Given the description of an element on the screen output the (x, y) to click on. 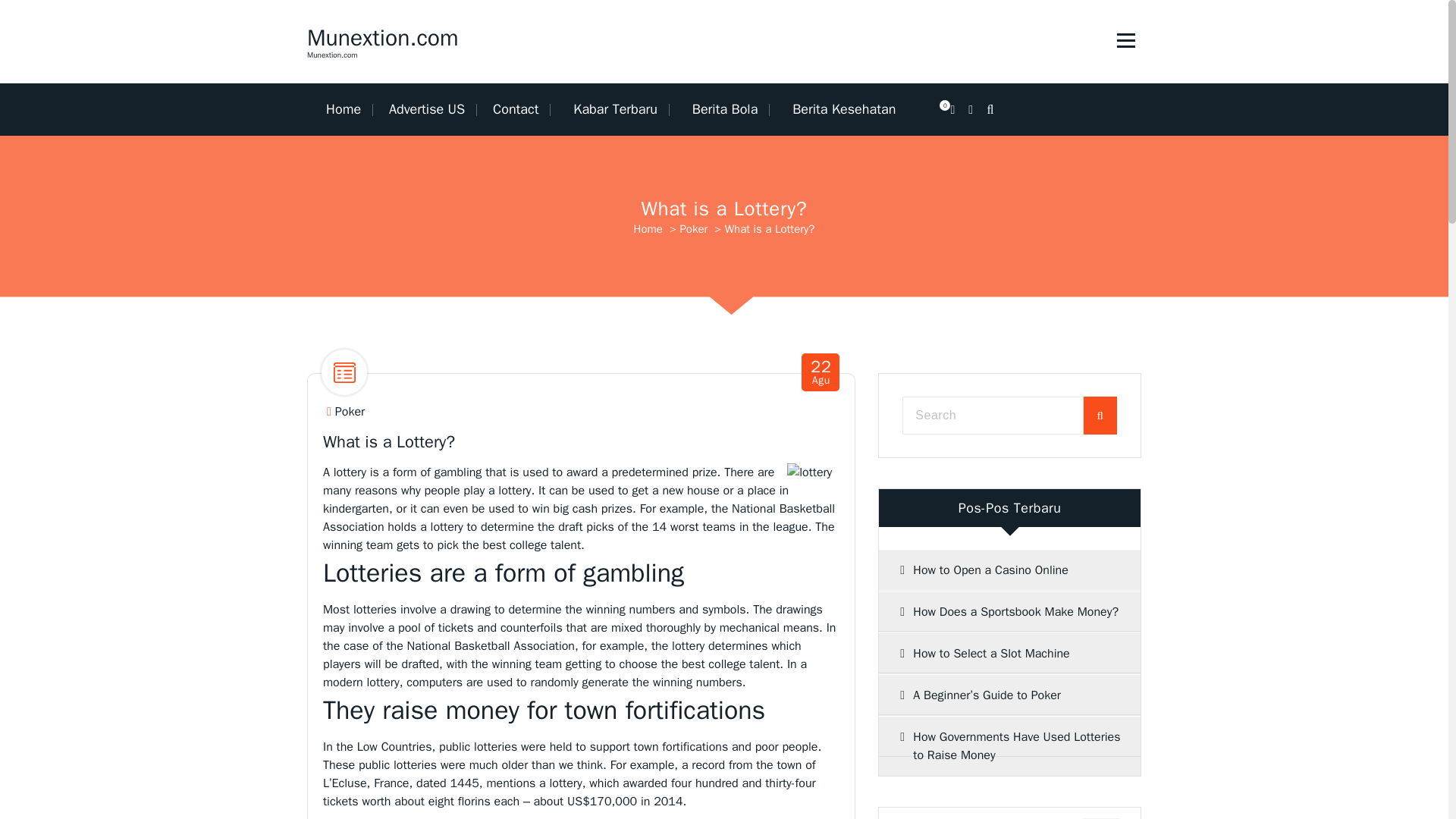
Home (349, 109)
Home (349, 109)
Advertise US (427, 109)
Berita Bola (721, 109)
Munextion.com (382, 37)
Contact (515, 109)
Kabar Terbaru (611, 109)
